Given the description of an element on the screen output the (x, y) to click on. 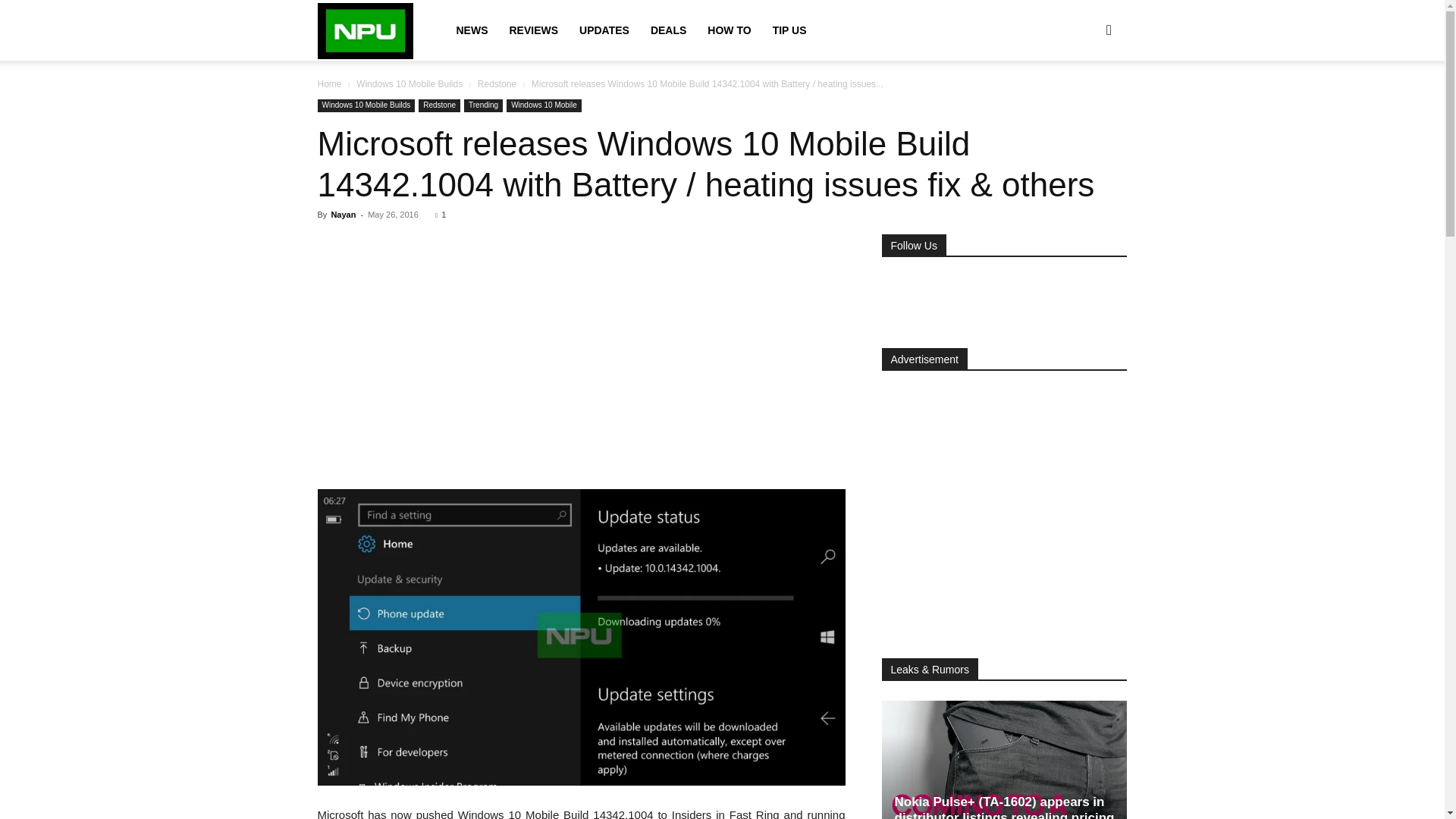
View all posts in Windows 10 Mobile Builds (409, 83)
DEALS (668, 30)
UPDATES (604, 30)
Nokiapoweruser (365, 30)
REVIEWS (533, 30)
Search (1085, 102)
HOW TO (729, 30)
Nokiapoweruser logo (365, 30)
View all posts in Redstone (496, 83)
